Given the description of an element on the screen output the (x, y) to click on. 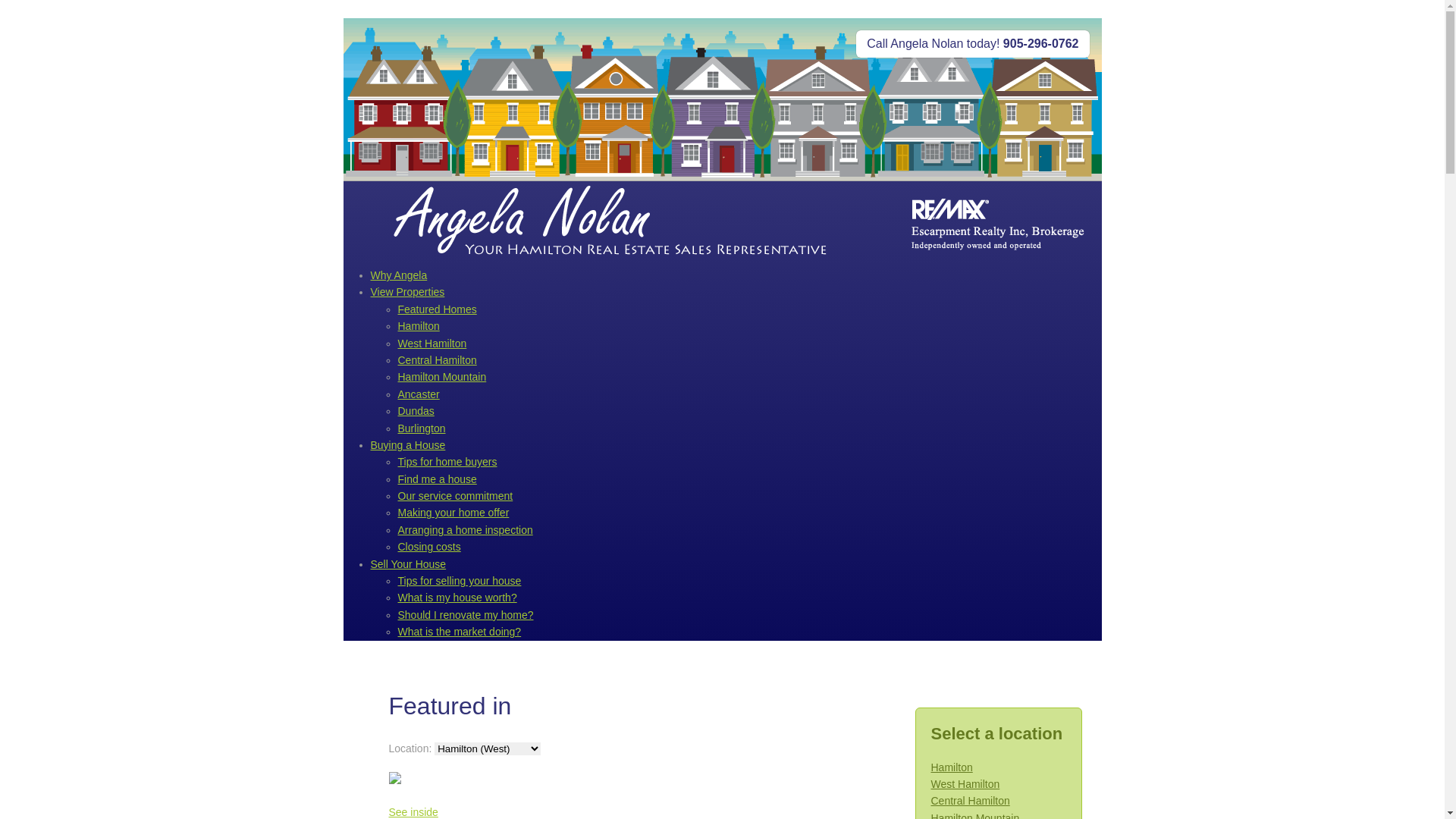
Angela Nolan Home Page Element type: hover (611, 222)
Visit the RE/MAX Escarpment Realty website Element type: hover (991, 222)
Buying a House Element type: text (407, 445)
Tips for selling your house Element type: text (458, 580)
View Properties Element type: text (407, 291)
Making your home offer Element type: text (452, 512)
Why Angela Element type: text (398, 275)
What is my house worth? Element type: text (456, 597)
Dundas Element type: text (415, 410)
Our service commitment Element type: text (454, 495)
What is the market doing? Element type: text (458, 631)
Hamilton Element type: text (418, 326)
Central Hamilton Element type: text (436, 360)
Central Hamilton Element type: text (970, 800)
Tips for home buyers Element type: text (446, 461)
West Hamilton Element type: text (431, 343)
Find me a house Element type: text (436, 479)
Call Angela Nolan today! 905-296-0762 Element type: text (972, 43)
Hamilton Mountain Element type: text (441, 376)
Featured Homes Element type: text (436, 309)
Closing costs Element type: text (428, 546)
Should I renovate my home? Element type: text (465, 614)
Arranging a home inspection Element type: text (464, 530)
Hamilton Element type: text (951, 767)
Ancaster Element type: text (418, 394)
West Hamilton Element type: text (965, 784)
Sell Your House Element type: text (407, 564)
Burlington Element type: text (421, 428)
See inside Element type: text (412, 812)
